Given the description of an element on the screen output the (x, y) to click on. 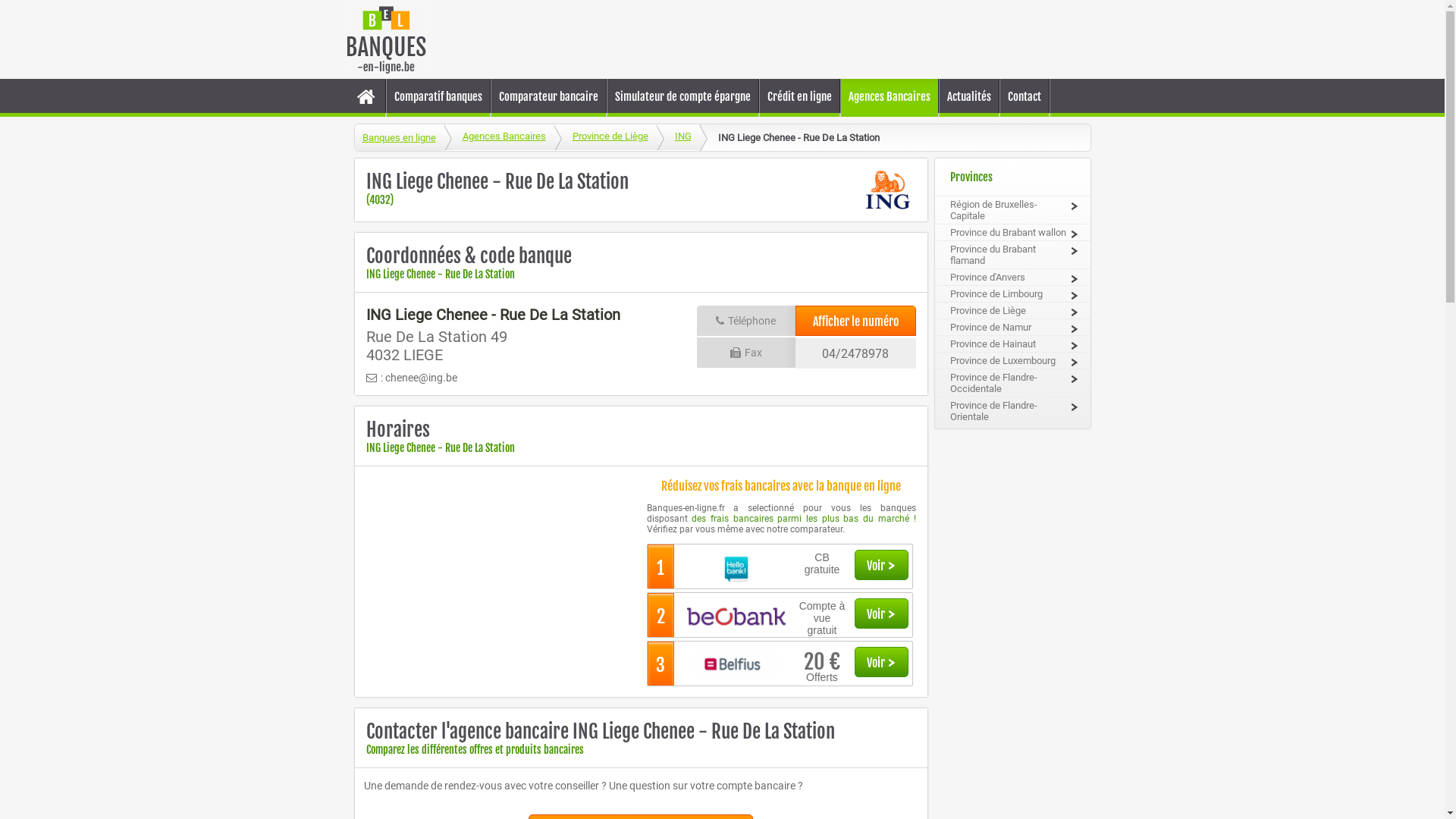
CB gratuite Element type: text (822, 561)
Belfius Banque Element type: hover (735, 665)
Contact Element type: text (1023, 96)
Province de Flandre-Occidentale Element type: text (1011, 382)
Advertisement Element type: hover (784, 39)
Voir Element type: text (880, 564)
2 Element type: text (660, 615)
Hello bank Belgique Element type: hover (735, 568)
Comparateur bancaire Element type: text (548, 96)
Province de Hainaut Element type: text (1011, 343)
Banques en ligne Element type: text (399, 137)
Province de Namur Element type: text (1011, 327)
Province de Limbourg Element type: text (1011, 293)
logo_Beobank2626.jpg Element type: hover (736, 616)
Voir Element type: text (880, 613)
Accueil banque en ligne Element type: hover (366, 94)
logo_Hello_Bank2727.jpg Element type: hover (736, 568)
chenee@ing.be Element type: text (421, 377)
Agences Bancaires Element type: text (497, 137)
1 Element type: text (660, 566)
Province de Luxembourg Element type: text (1011, 360)
Comparatif banques Element type: text (437, 96)
3 Element type: text (660, 663)
Voir Element type: text (880, 661)
ING Element type: text (676, 137)
Agences Bancaires Element type: text (888, 96)
Province du Brabant flamand Element type: text (1011, 254)
Beobank Element type: hover (735, 616)
logo_belfius_banque33.jpg Element type: hover (736, 665)
Province d'Anvers Element type: text (1011, 277)
Province de Flandre-Orientale Element type: text (1011, 410)
Province du Brabant wallon Element type: text (1011, 232)
